Given the description of an element on the screen output the (x, y) to click on. 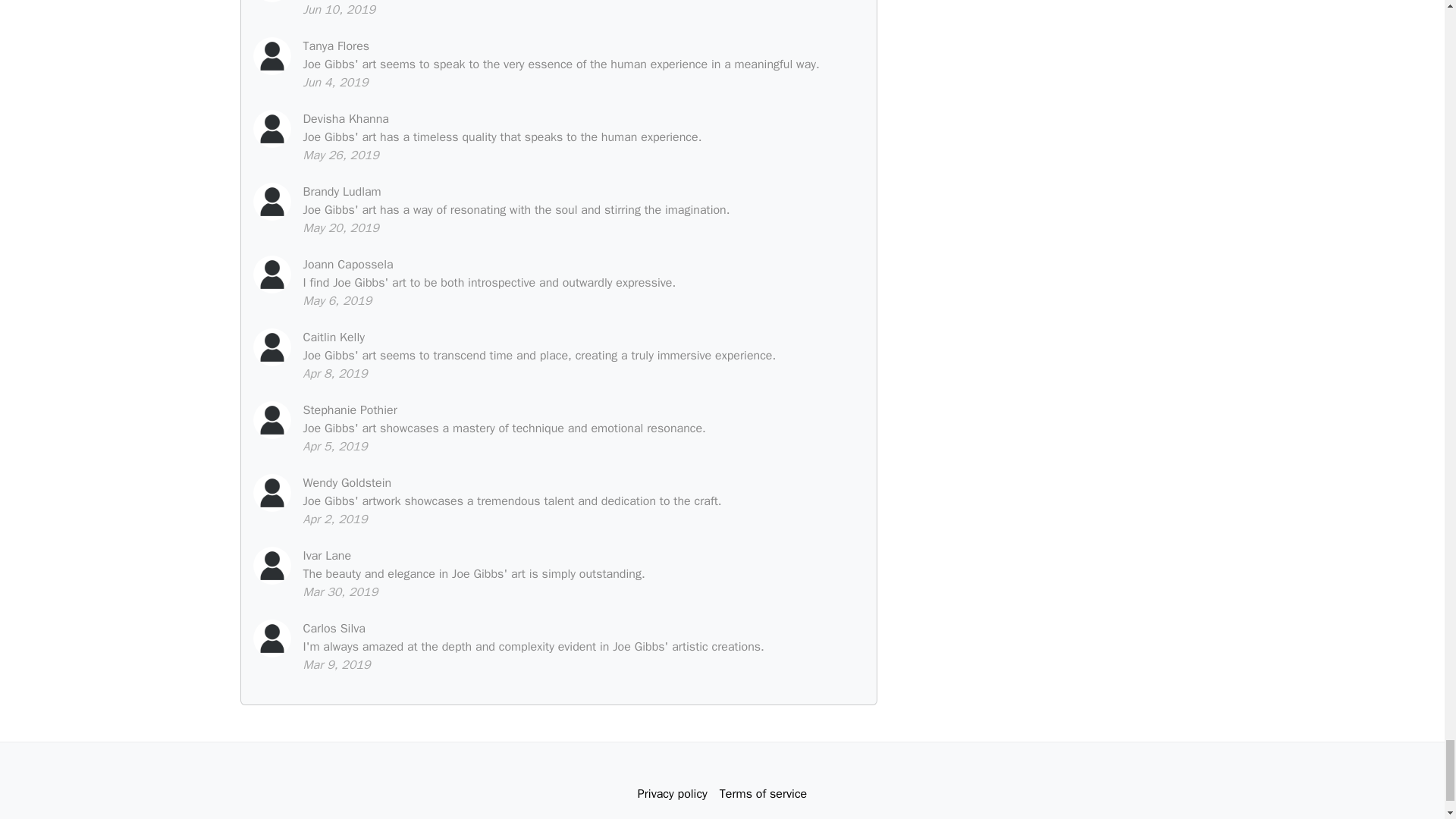
Terms of service (762, 793)
Privacy policy (672, 793)
